Given the description of an element on the screen output the (x, y) to click on. 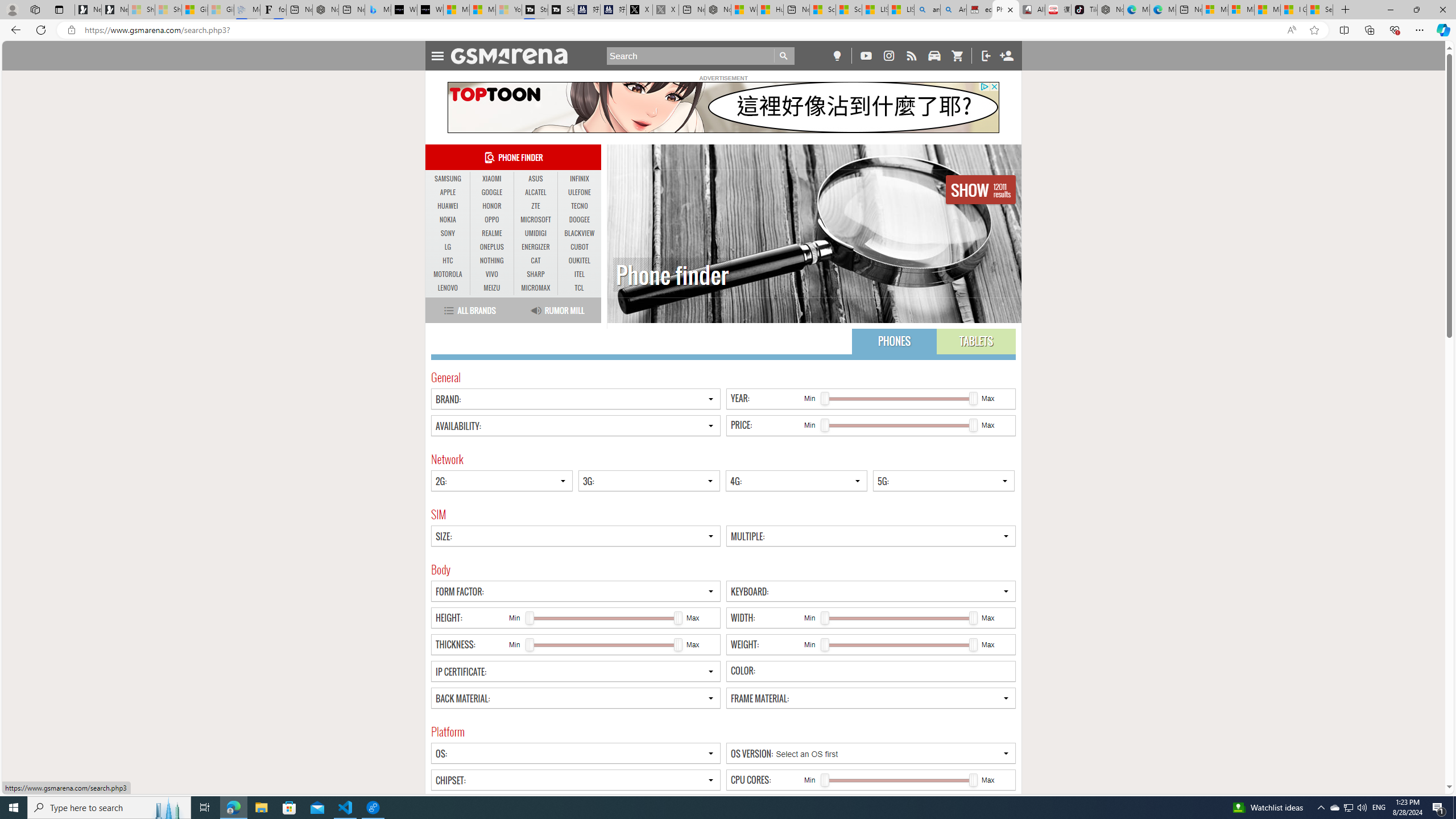
ONEPLUS (491, 246)
NOKIA (448, 219)
HTC (448, 260)
ZTE (535, 206)
NOKIA (448, 219)
MEIZU (491, 287)
LENOVO (448, 287)
CAT (535, 260)
I Gained 20 Pounds of Muscle in 30 Days! | Watch (1293, 9)
